Given the description of an element on the screen output the (x, y) to click on. 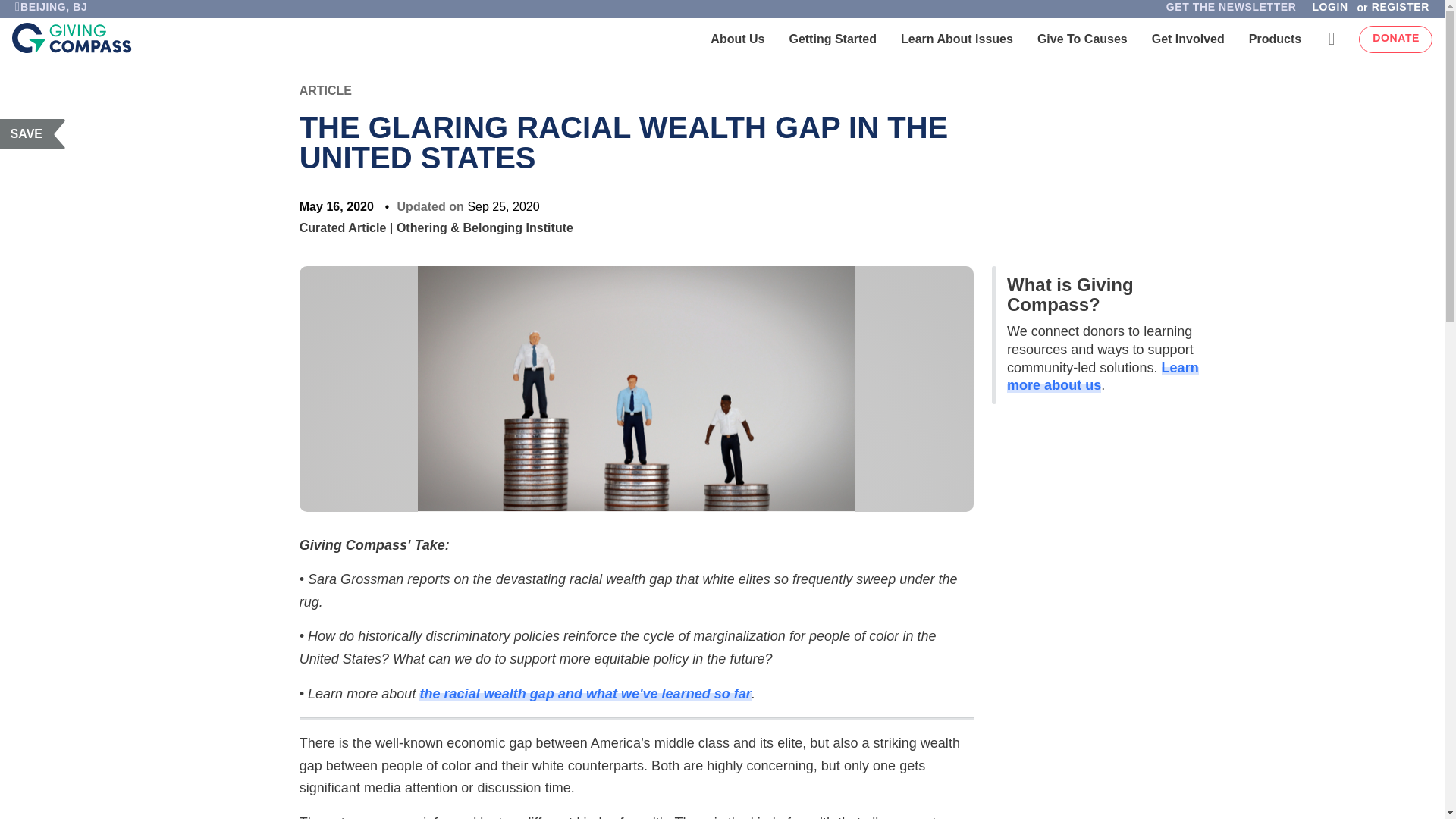
SAVE (33, 134)
BEIJING, BJ (50, 10)
Learn more about us (1102, 376)
GET THE NEWSLETTER (1231, 10)
REGISTER (1404, 10)
LOGIN (1329, 10)
DONATE (1395, 39)
the racial wealth gap and what we've learned so far (585, 693)
